Given the description of an element on the screen output the (x, y) to click on. 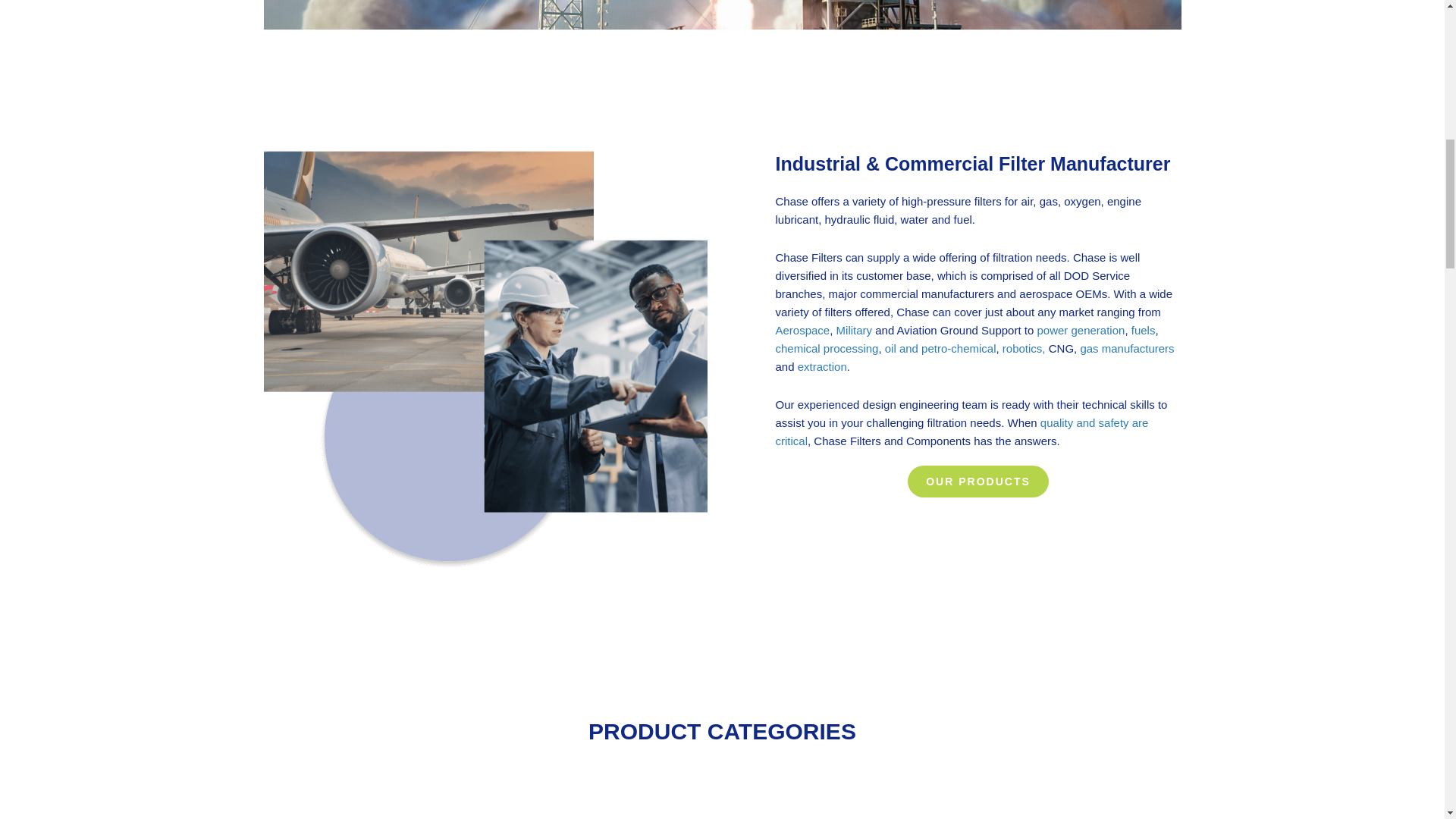
Click Here (977, 481)
Aerospace (801, 329)
fuels (1143, 329)
chase-dots-04 (722, 778)
power generation (1080, 329)
Military (853, 329)
chemical processing (825, 348)
oil and petro-chemical (940, 348)
